Given the description of an element on the screen output the (x, y) to click on. 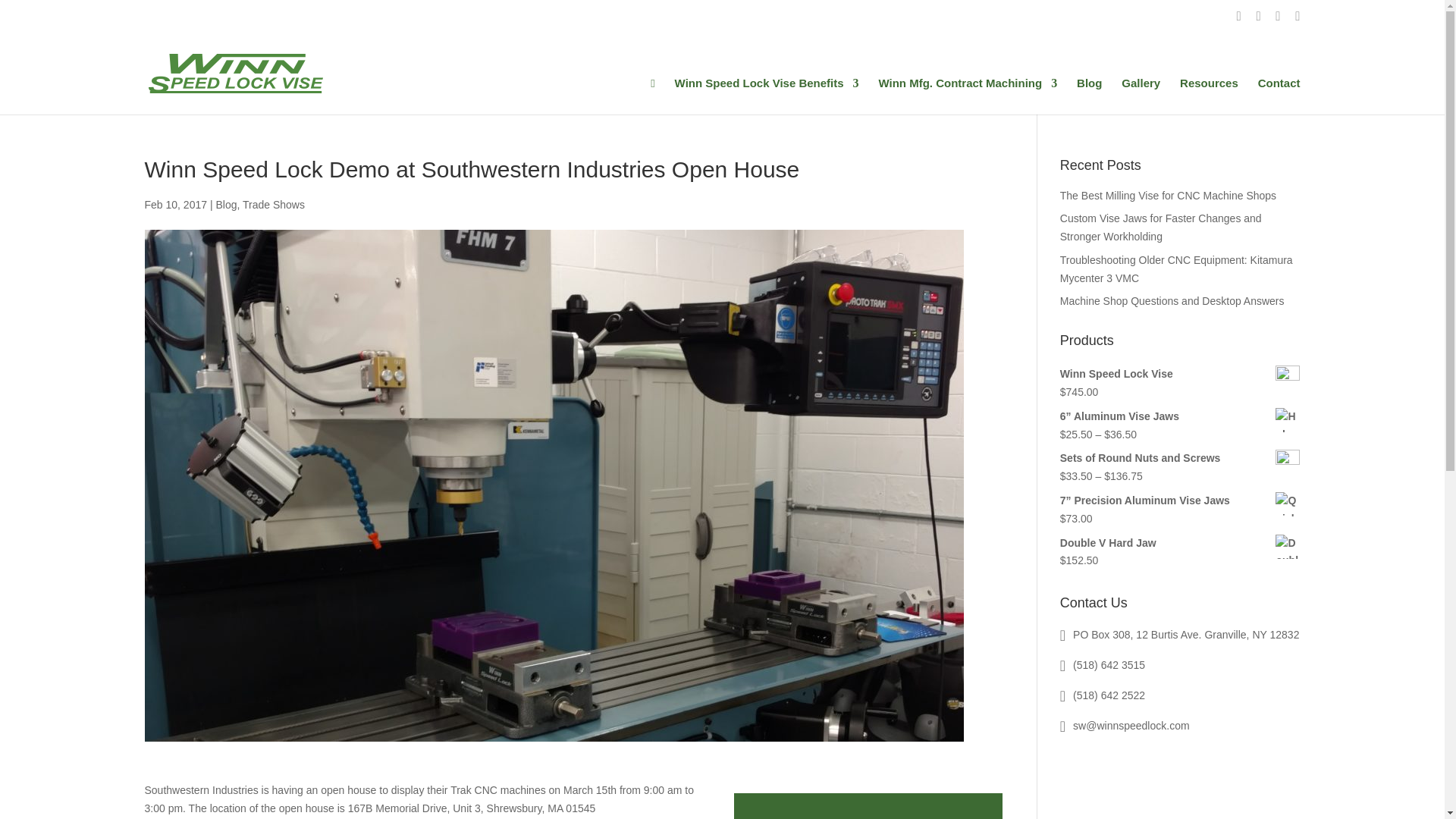
Trade Shows (273, 204)
The Best Milling Vise for CNC Machine Shops (1167, 195)
Machine Shop Questions and Desktop Answers (1171, 300)
Troubleshooting Older CNC Equipment: Kitamura Mycenter 3 VMC (1175, 268)
Custom Vise Jaws for Faster Changes and Stronger Workholding (1160, 227)
Resources (1209, 94)
Sets of Round Nuts and Screws (1179, 458)
Winn Mfg. Contract Machining (967, 94)
Contact (1278, 94)
Gallery (1140, 94)
